Given the description of an element on the screen output the (x, y) to click on. 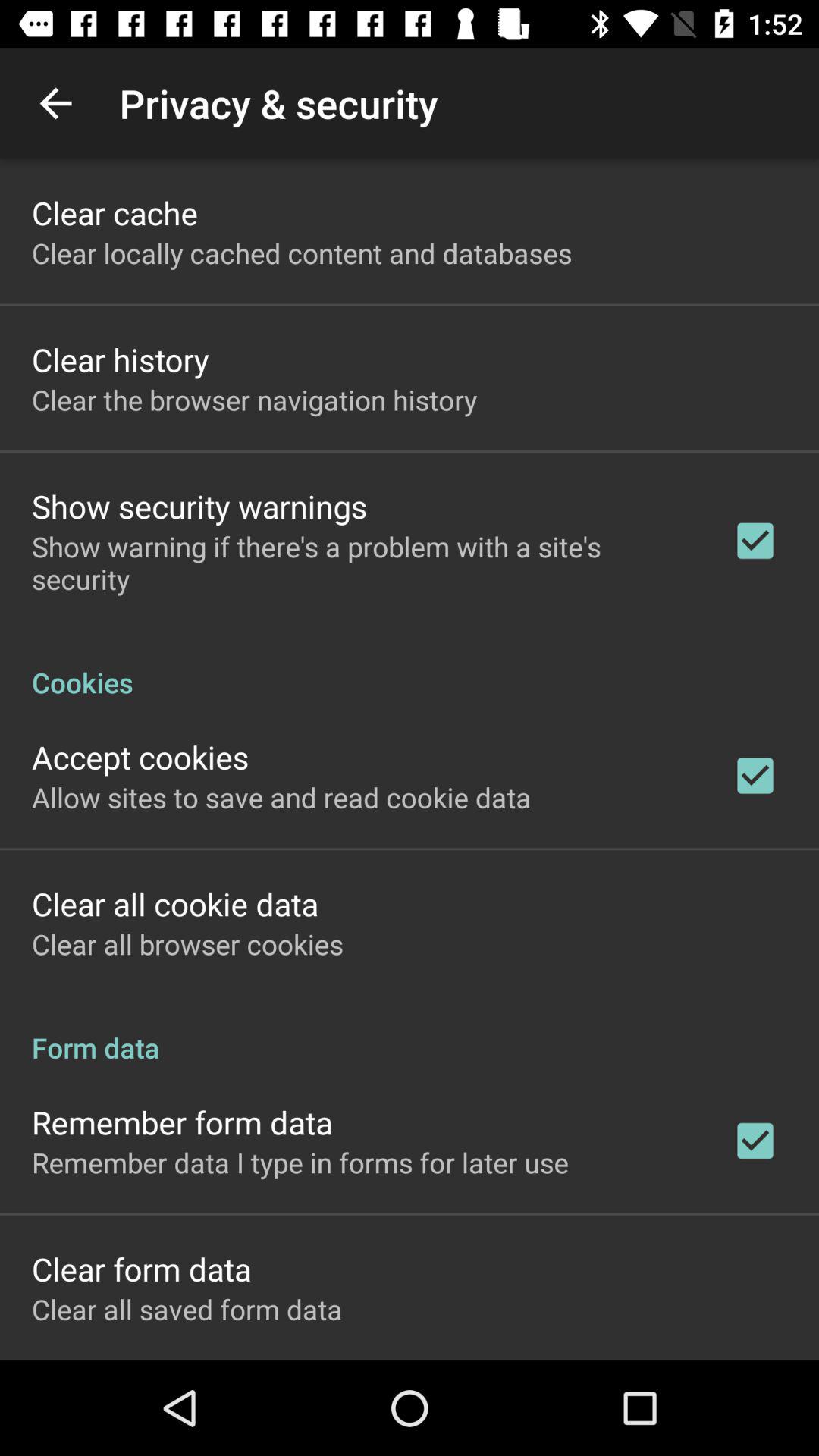
press icon below the show security warnings app (361, 562)
